Given the description of an element on the screen output the (x, y) to click on. 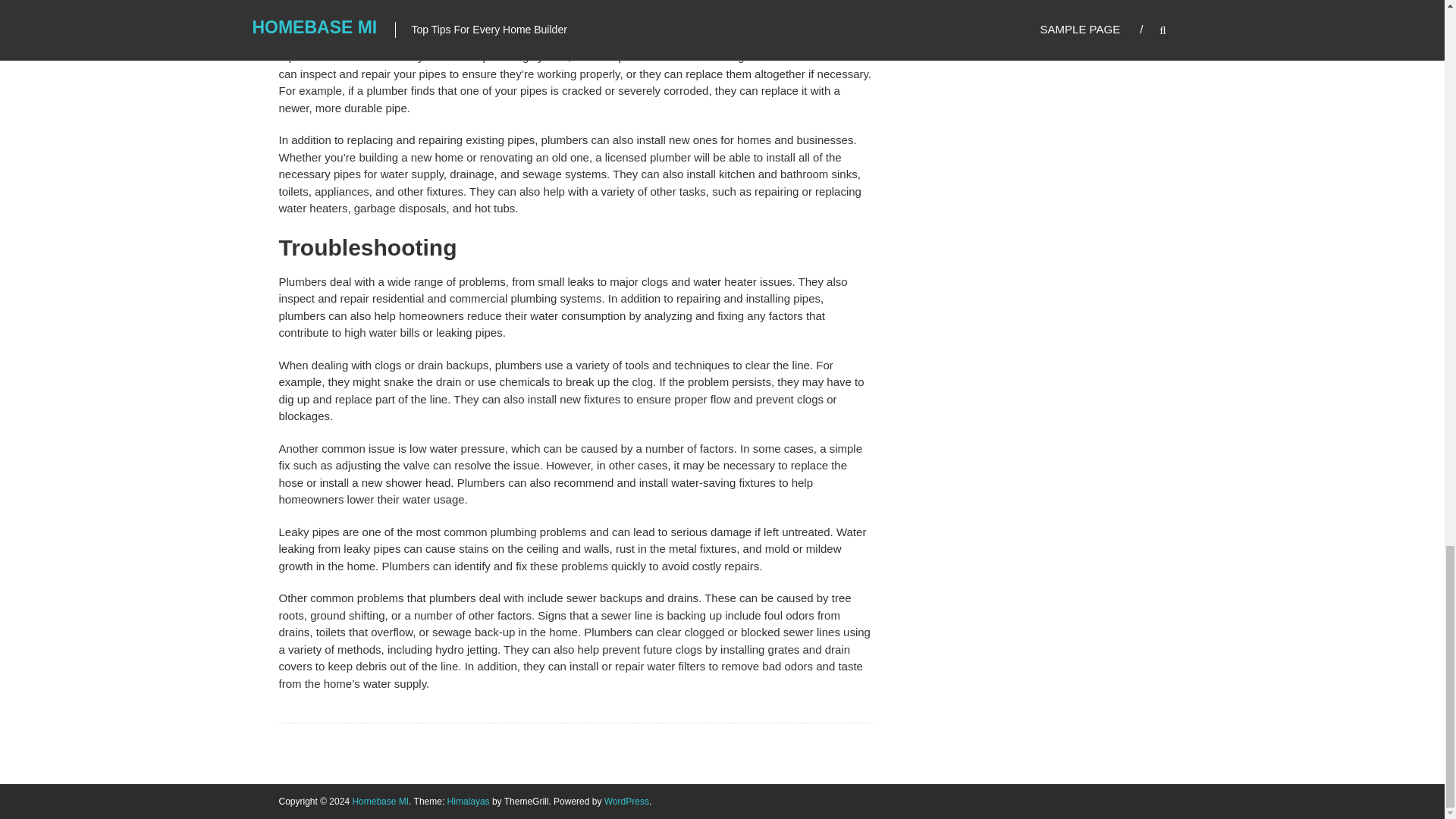
WordPress (626, 801)
WordPress (626, 801)
Himalayas (467, 801)
Homebase MI (380, 801)
Himalayas (467, 801)
Homebase MI (380, 801)
